Given the description of an element on the screen output the (x, y) to click on. 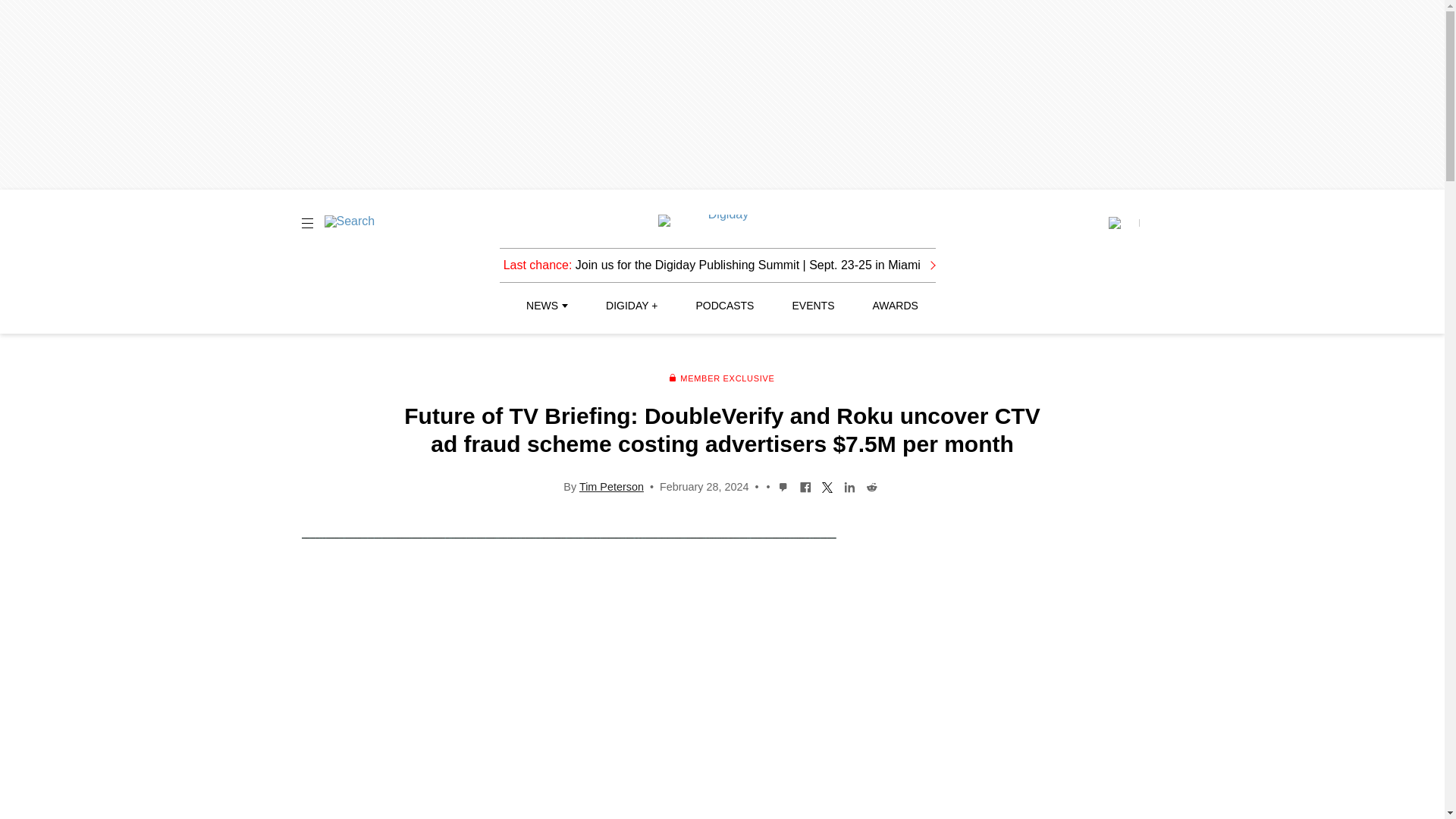
Share on Reddit (870, 485)
NEWS (546, 305)
PODCASTS (725, 305)
EVENTS (813, 305)
Share on Facebook (805, 485)
AWARDS (894, 305)
Subscribe (1123, 223)
Share on LinkedIn (849, 485)
Share on Twitter (827, 485)
